Given the description of an element on the screen output the (x, y) to click on. 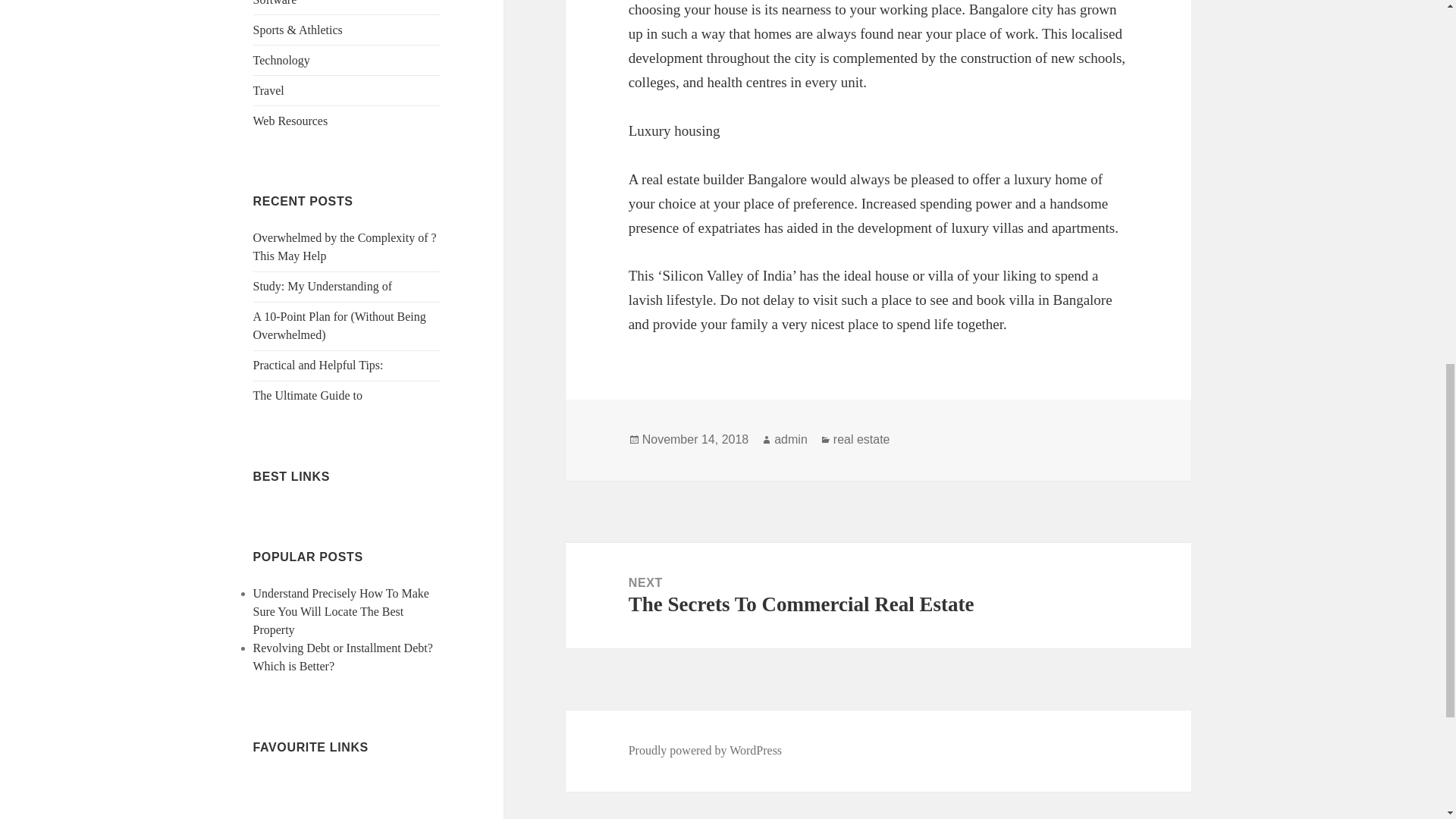
Revolving Debt or Installment Debt? Which is Better? (342, 656)
Overwhelmed by the Complexity of ? This May Help (344, 246)
Travel (268, 90)
Software (275, 2)
Web Resources (291, 120)
The Ultimate Guide to (307, 395)
Technology (281, 60)
Study: My Understanding of (323, 286)
admin (791, 439)
